Given the description of an element on the screen output the (x, y) to click on. 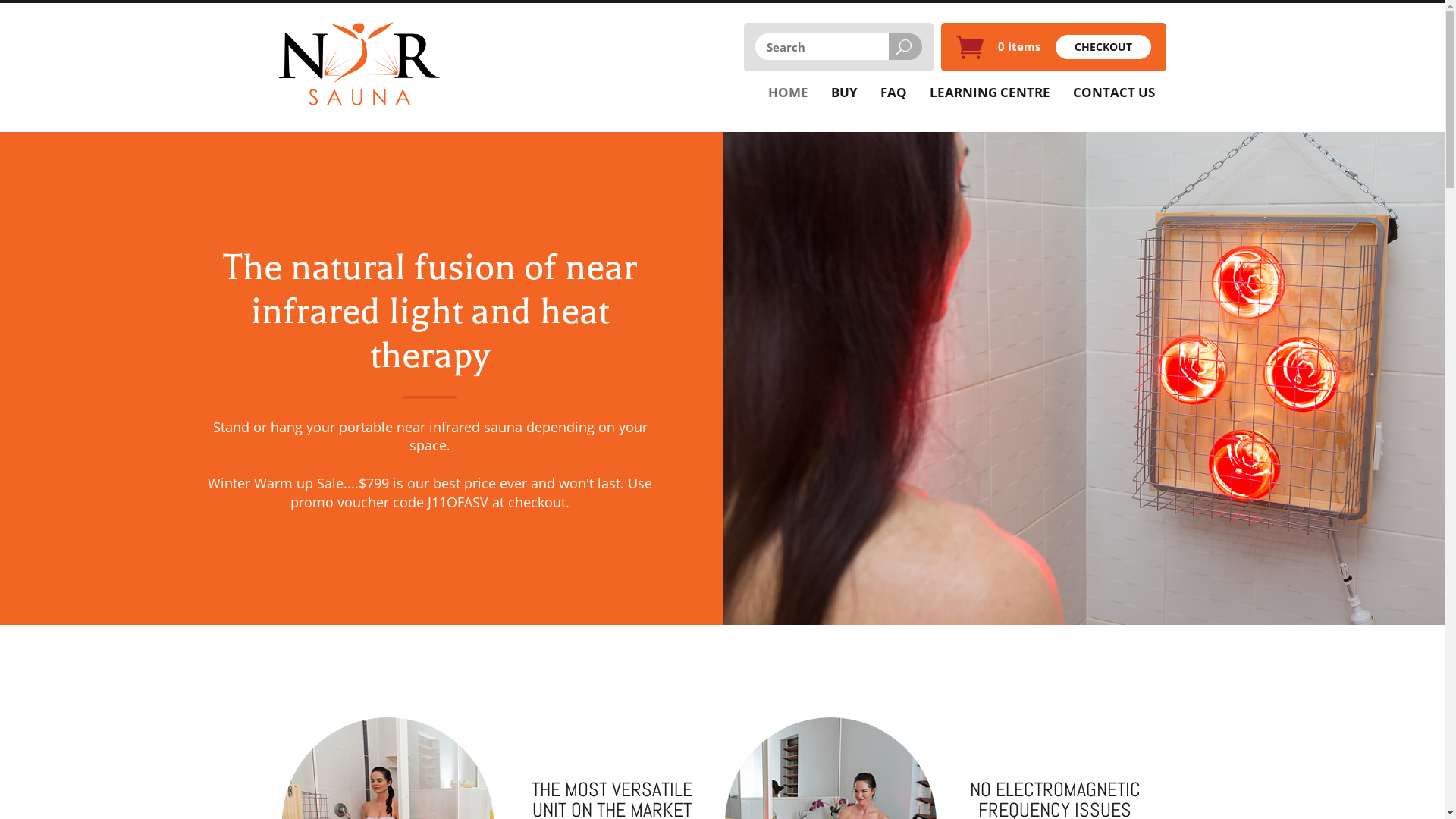
FAQ Element type: text (893, 92)
HOME Element type: text (787, 92)
CONTACT US Element type: text (1113, 92)
0 Items Element type: text (1018, 45)
LEARNING CENTRE Element type: text (988, 92)
BUY Element type: text (843, 92)
CHECKOUT Element type: text (1103, 46)
